Given the description of an element on the screen output the (x, y) to click on. 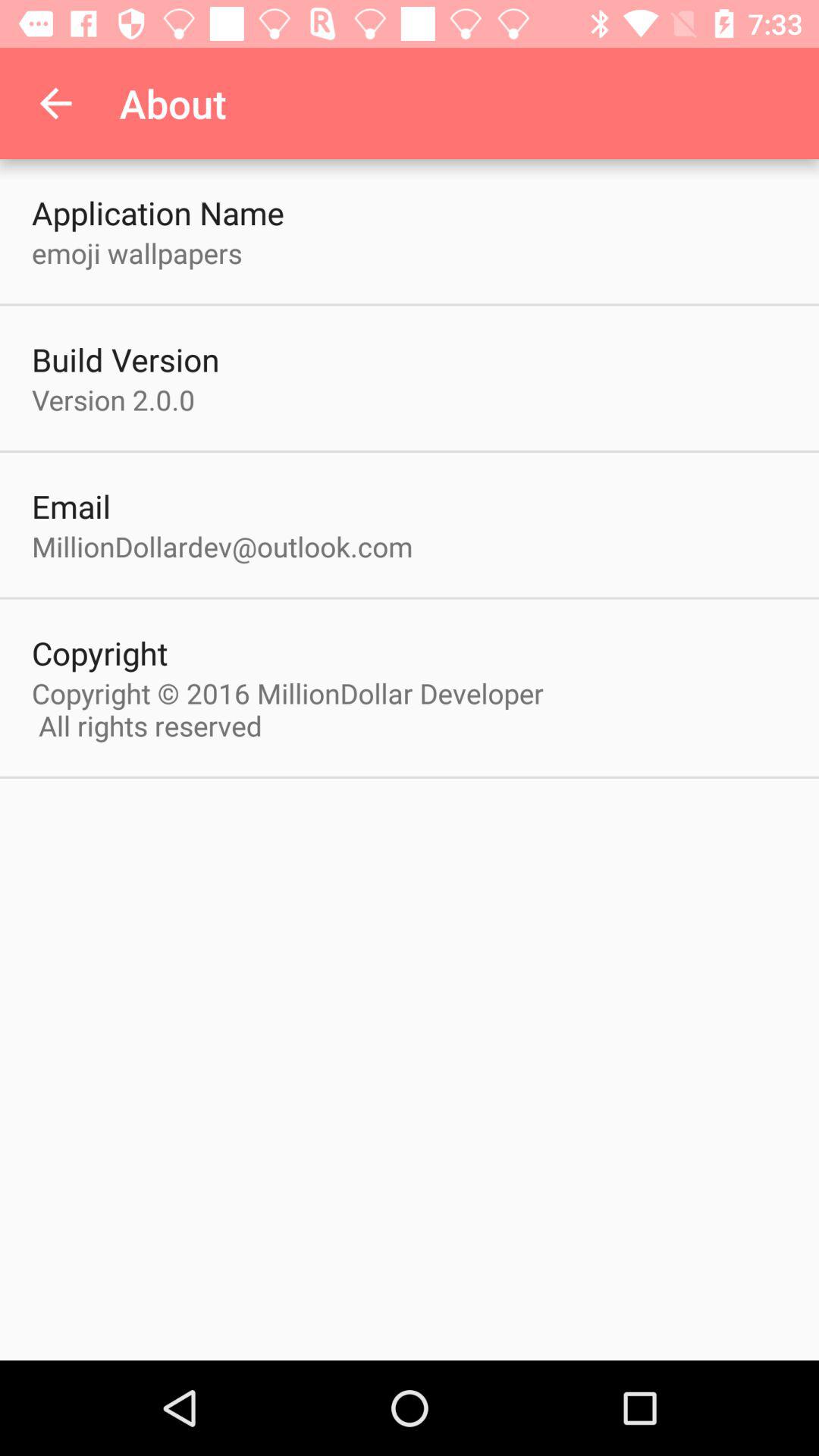
launch build version (125, 359)
